Given the description of an element on the screen output the (x, y) to click on. 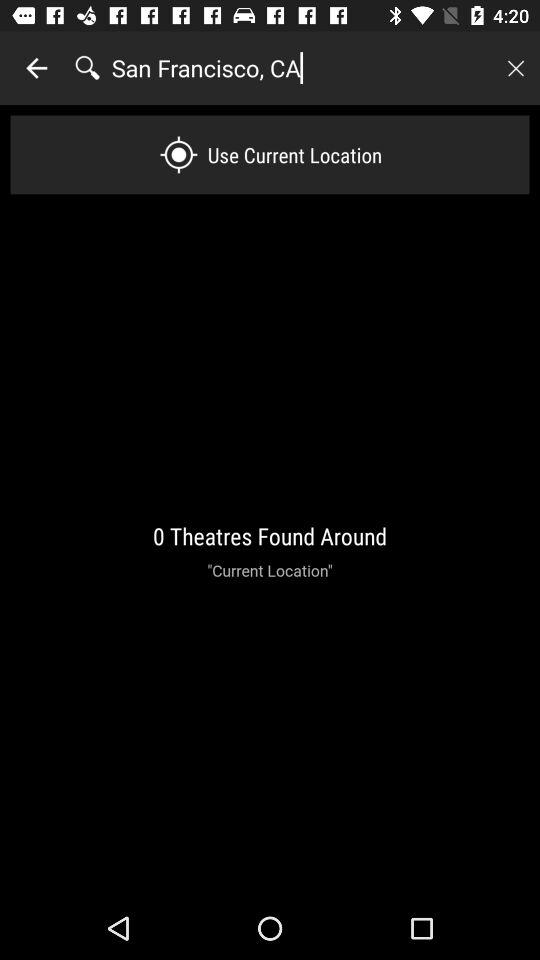
select image (515, 68)
